Given the description of an element on the screen output the (x, y) to click on. 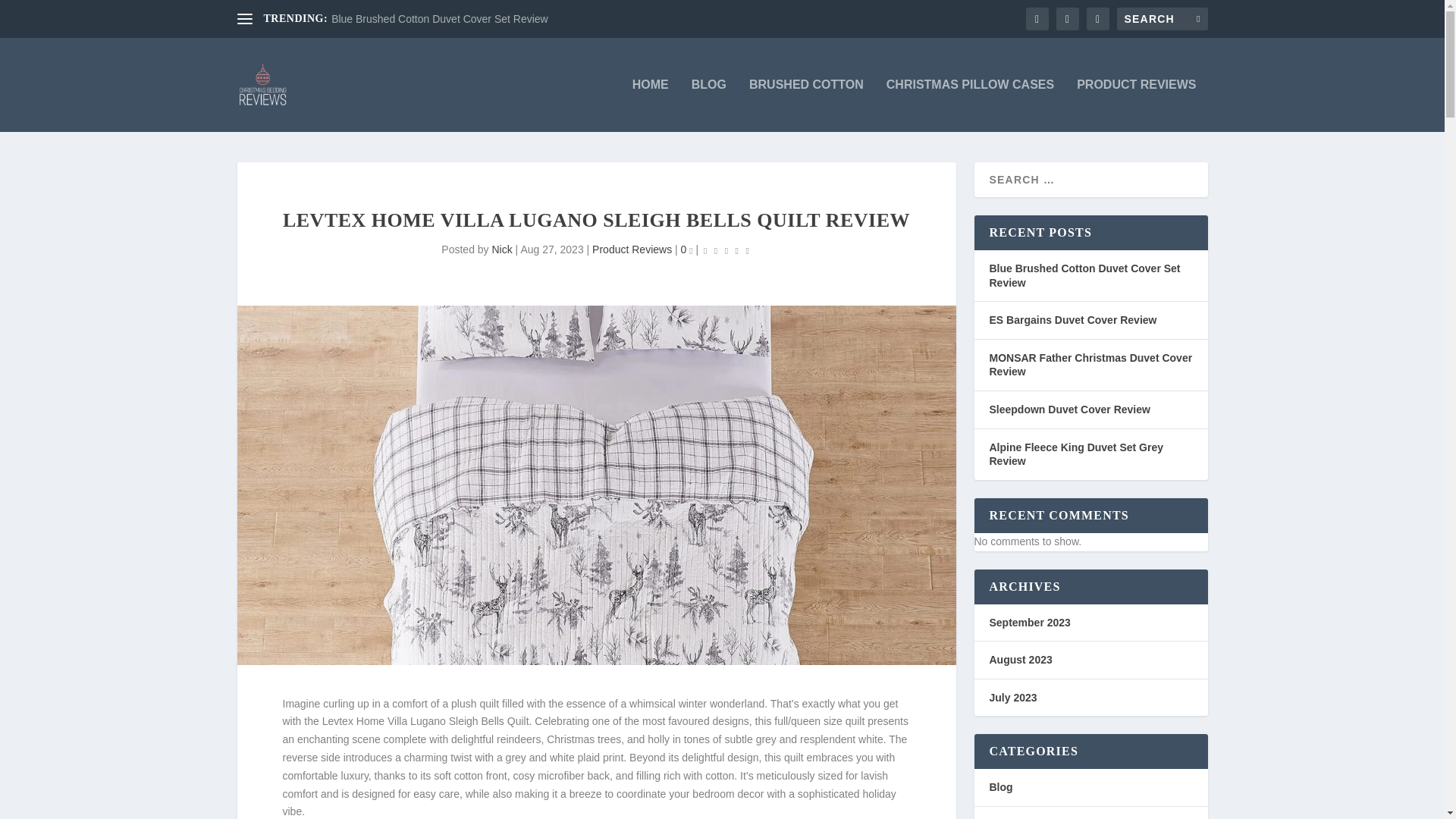
PRODUCT REVIEWS (1136, 104)
Rating: 0.00 (726, 250)
Nick (502, 249)
Search for: (1161, 18)
Posts by Nick (502, 249)
Blue Brushed Cotton Duvet Cover Set Review (439, 19)
BRUSHED COTTON (806, 104)
CHRISTMAS PILLOW CASES (970, 104)
Product Reviews (631, 249)
0 (687, 249)
